Given the description of an element on the screen output the (x, y) to click on. 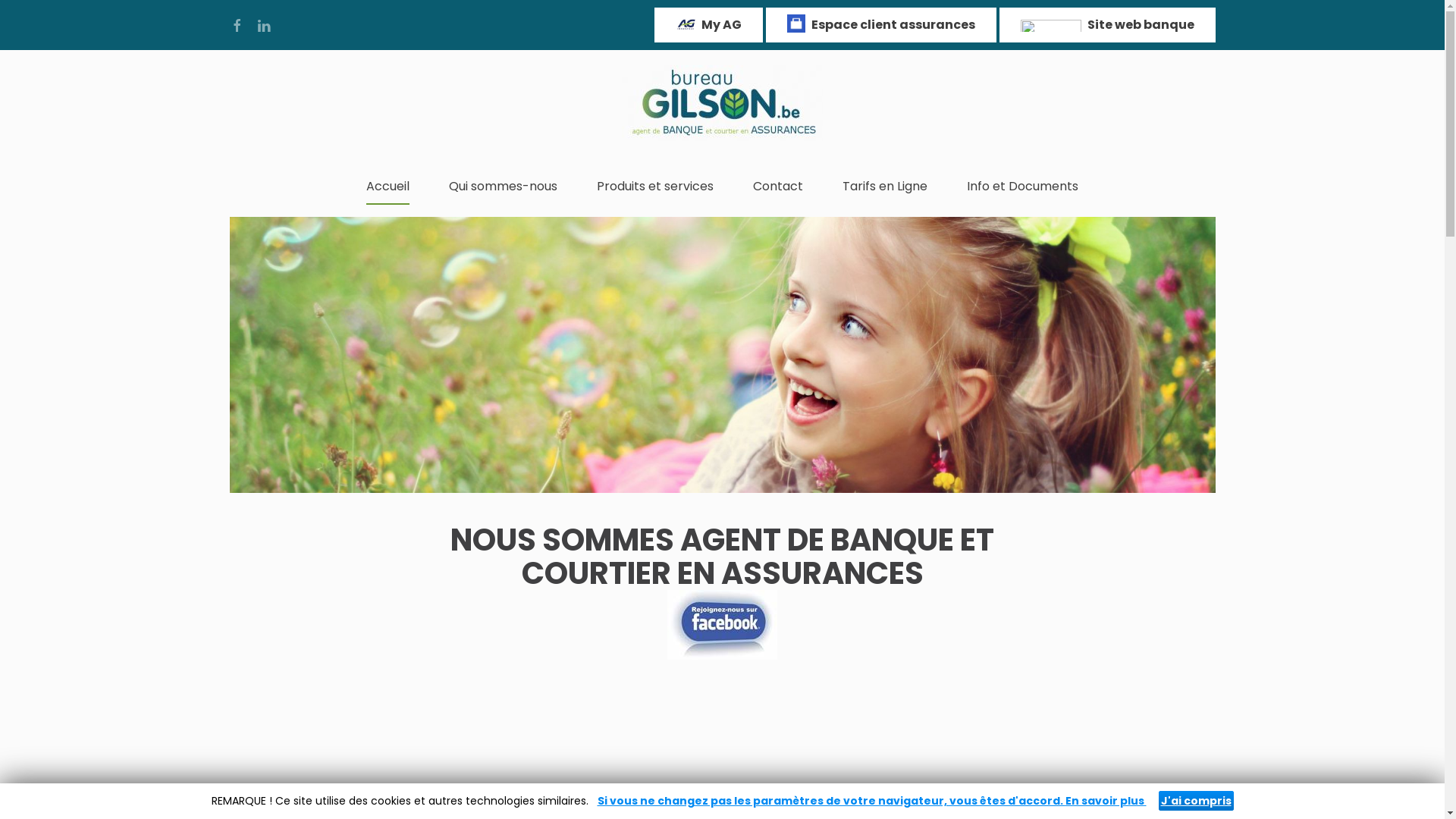
Info et Documents Element type: text (1022, 186)
 My AG Element type: text (707, 24)
Produits et services Element type: text (655, 186)
  Espace client assurances Element type: text (880, 24)
Contact Element type: text (777, 186)
Tarifs en Ligne Element type: text (884, 186)
  Site web banque Element type: text (1107, 24)
Accueil Element type: text (387, 186)
Qui sommes-nous Element type: text (503, 186)
